Given the description of an element on the screen output the (x, y) to click on. 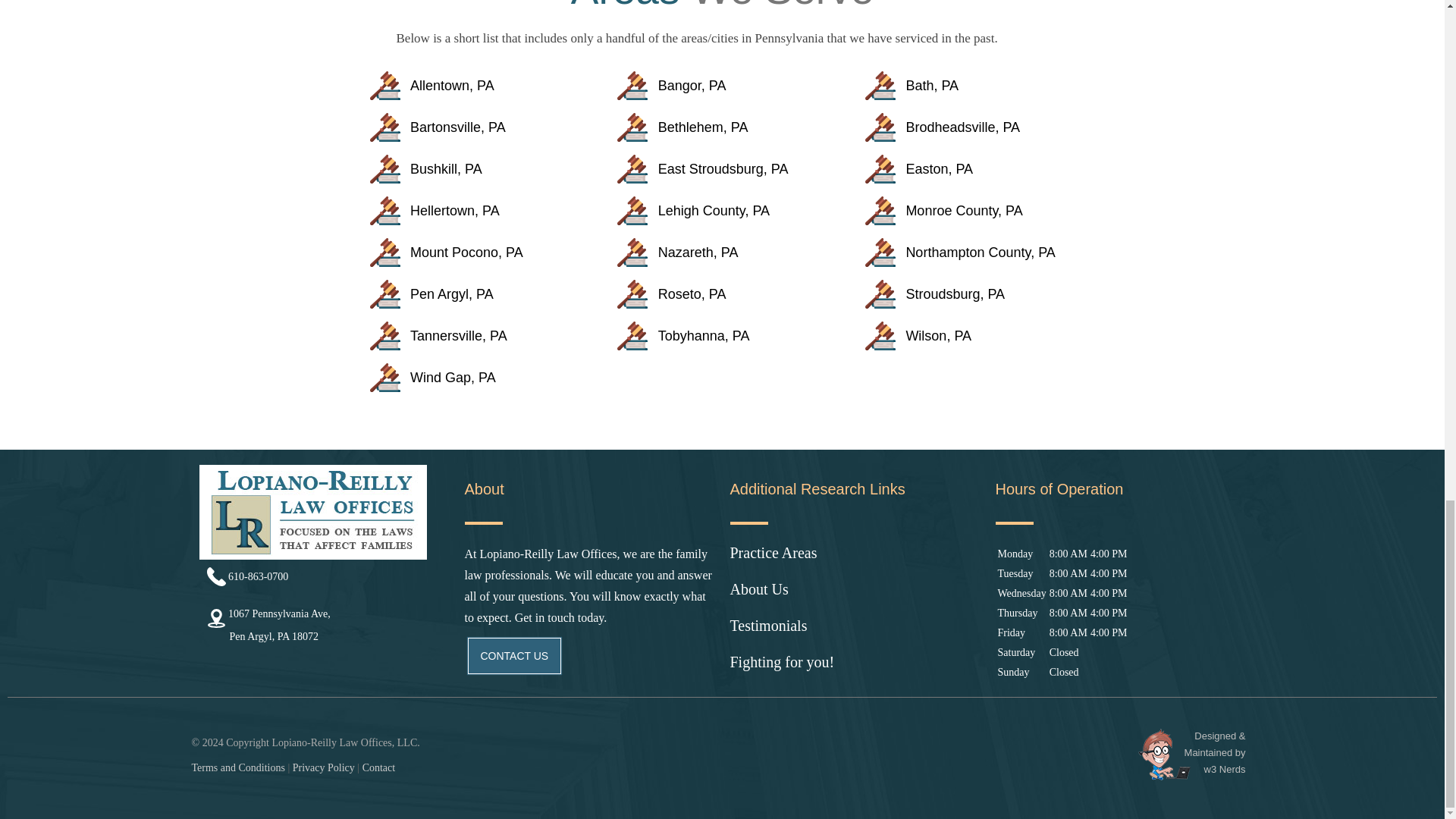
About Us (323, 622)
Contact (854, 597)
Fighting for you! (379, 767)
Terms and Conditions (854, 670)
Practice Areas (236, 767)
Privacy Policy (854, 561)
610-863-0700 (323, 767)
Testimonials (323, 576)
CONTACT US (854, 634)
